Given the description of an element on the screen output the (x, y) to click on. 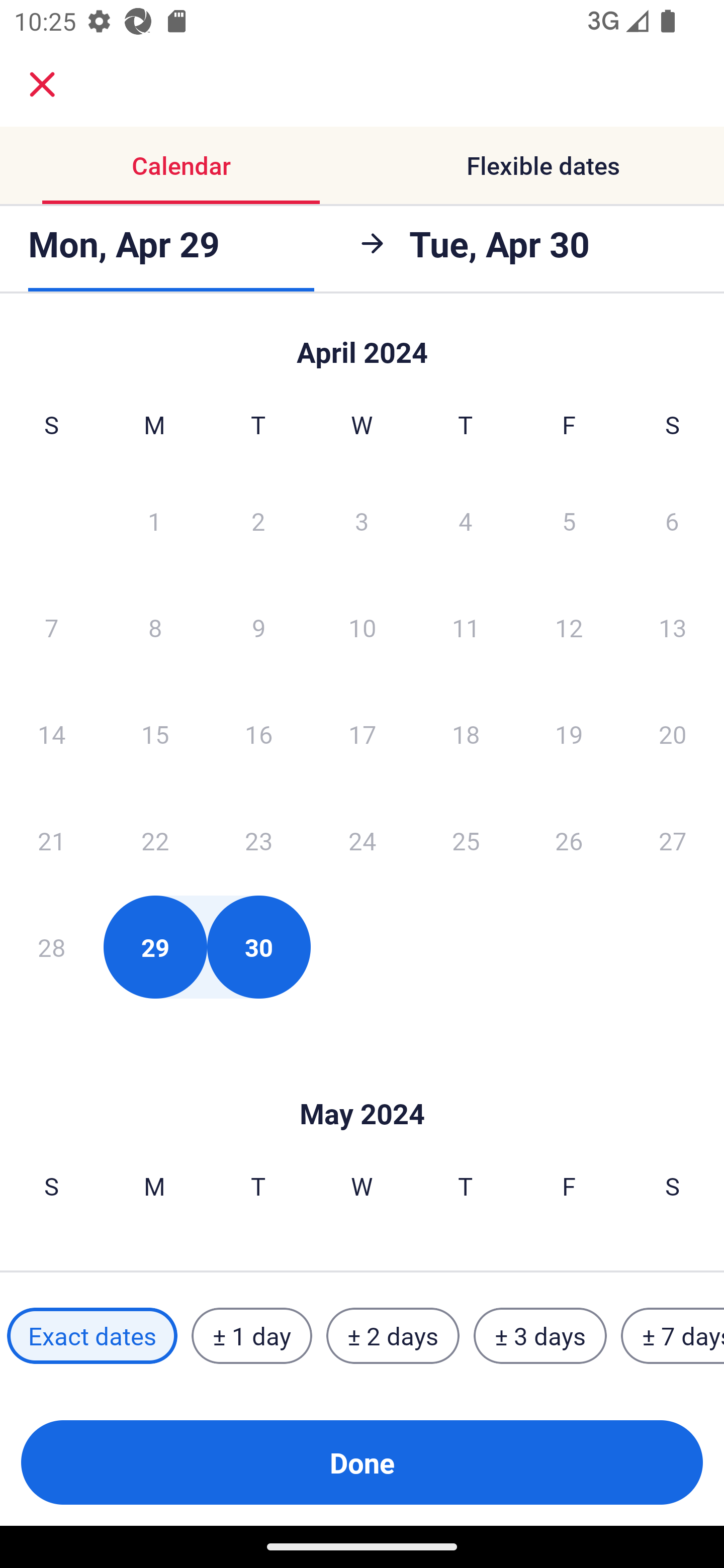
close. (42, 84)
Flexible dates (542, 164)
Skip to Done (362, 343)
1 Monday, April 1, 2024 (154, 520)
2 Tuesday, April 2, 2024 (257, 520)
3 Wednesday, April 3, 2024 (361, 520)
4 Thursday, April 4, 2024 (465, 520)
5 Friday, April 5, 2024 (568, 520)
6 Saturday, April 6, 2024 (672, 520)
7 Sunday, April 7, 2024 (51, 626)
8 Monday, April 8, 2024 (155, 626)
9 Tuesday, April 9, 2024 (258, 626)
10 Wednesday, April 10, 2024 (362, 626)
11 Thursday, April 11, 2024 (465, 626)
12 Friday, April 12, 2024 (569, 626)
13 Saturday, April 13, 2024 (672, 626)
14 Sunday, April 14, 2024 (51, 733)
15 Monday, April 15, 2024 (155, 733)
16 Tuesday, April 16, 2024 (258, 733)
17 Wednesday, April 17, 2024 (362, 733)
18 Thursday, April 18, 2024 (465, 733)
19 Friday, April 19, 2024 (569, 733)
20 Saturday, April 20, 2024 (672, 733)
21 Sunday, April 21, 2024 (51, 840)
22 Monday, April 22, 2024 (155, 840)
23 Tuesday, April 23, 2024 (258, 840)
24 Wednesday, April 24, 2024 (362, 840)
25 Thursday, April 25, 2024 (465, 840)
26 Friday, April 26, 2024 (569, 840)
27 Saturday, April 27, 2024 (672, 840)
28 Sunday, April 28, 2024 (51, 946)
Skip to Done (362, 1083)
Exact dates (92, 1335)
± 1 day (251, 1335)
± 2 days (392, 1335)
± 3 days (539, 1335)
± 7 days (672, 1335)
Done (361, 1462)
